Given the description of an element on the screen output the (x, y) to click on. 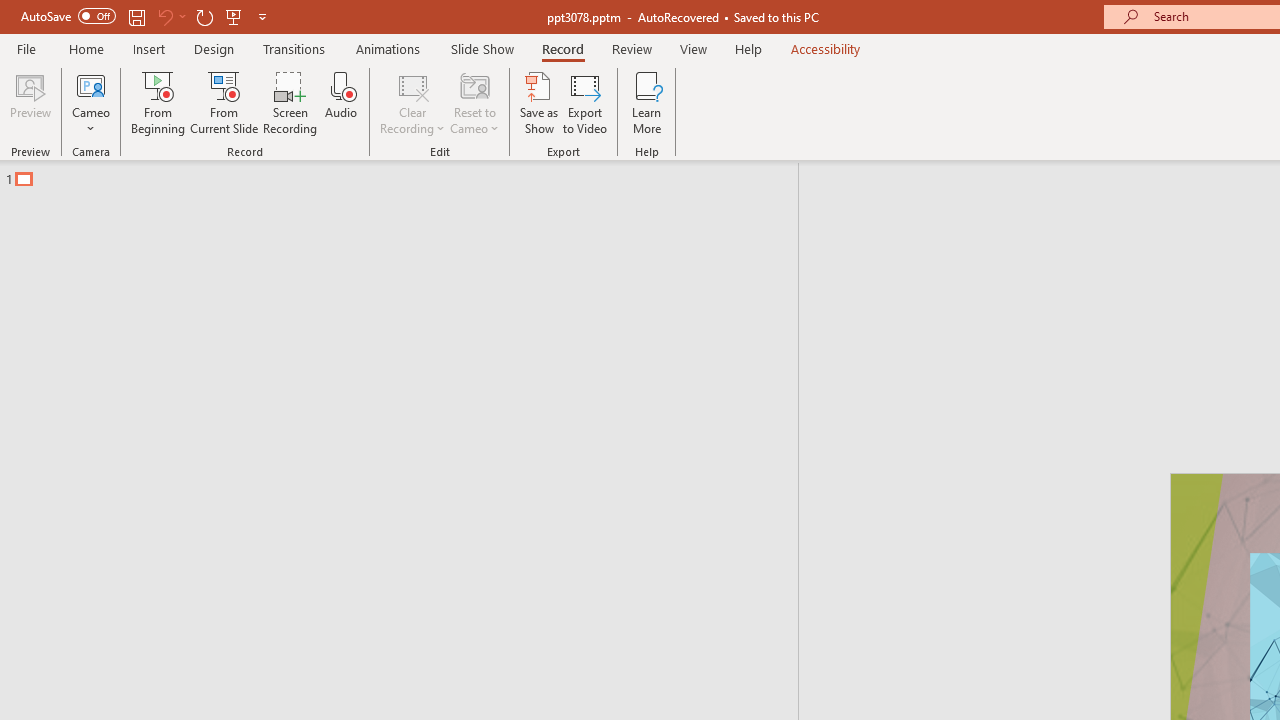
Reset to Cameo (474, 102)
From Beginning... (158, 102)
Learn More (646, 102)
Audio (341, 102)
Outline (408, 174)
Clear Recording (412, 102)
